Given the description of an element on the screen output the (x, y) to click on. 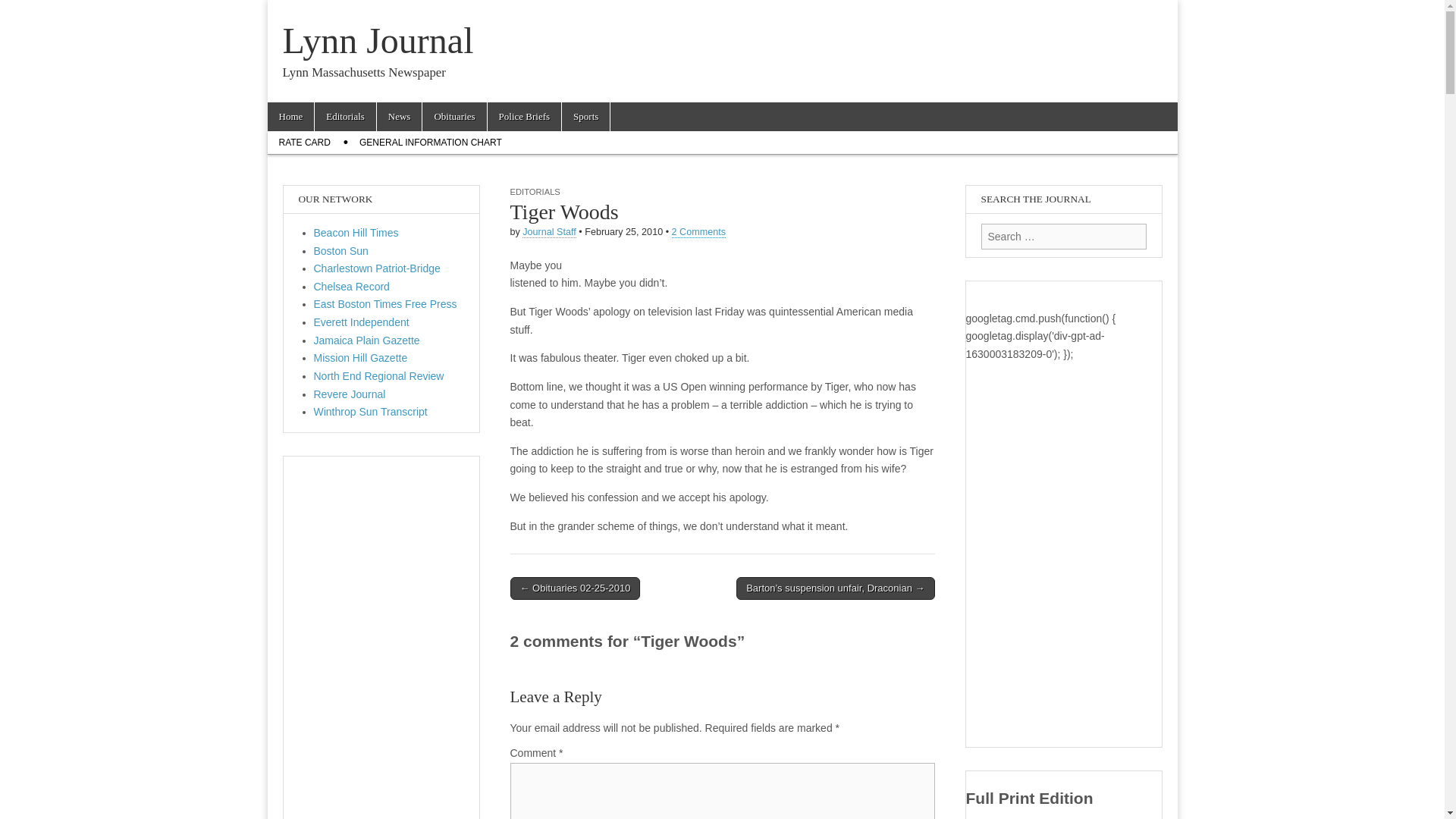
Charlestown Patriot-Bridge (377, 268)
News (399, 116)
Mission Hill Gazette (360, 357)
EDITORIALS (534, 191)
Obituaries (454, 116)
Sports (586, 116)
Revere Journal (349, 394)
Home (290, 116)
East Boston Times Free Press (385, 304)
North End Regional Review (379, 376)
Journal Staff (548, 232)
Chelsea Record (352, 286)
Editorials (344, 116)
2 Comments (698, 232)
Winthrop Sun Transcript (371, 411)
